Given the description of an element on the screen output the (x, y) to click on. 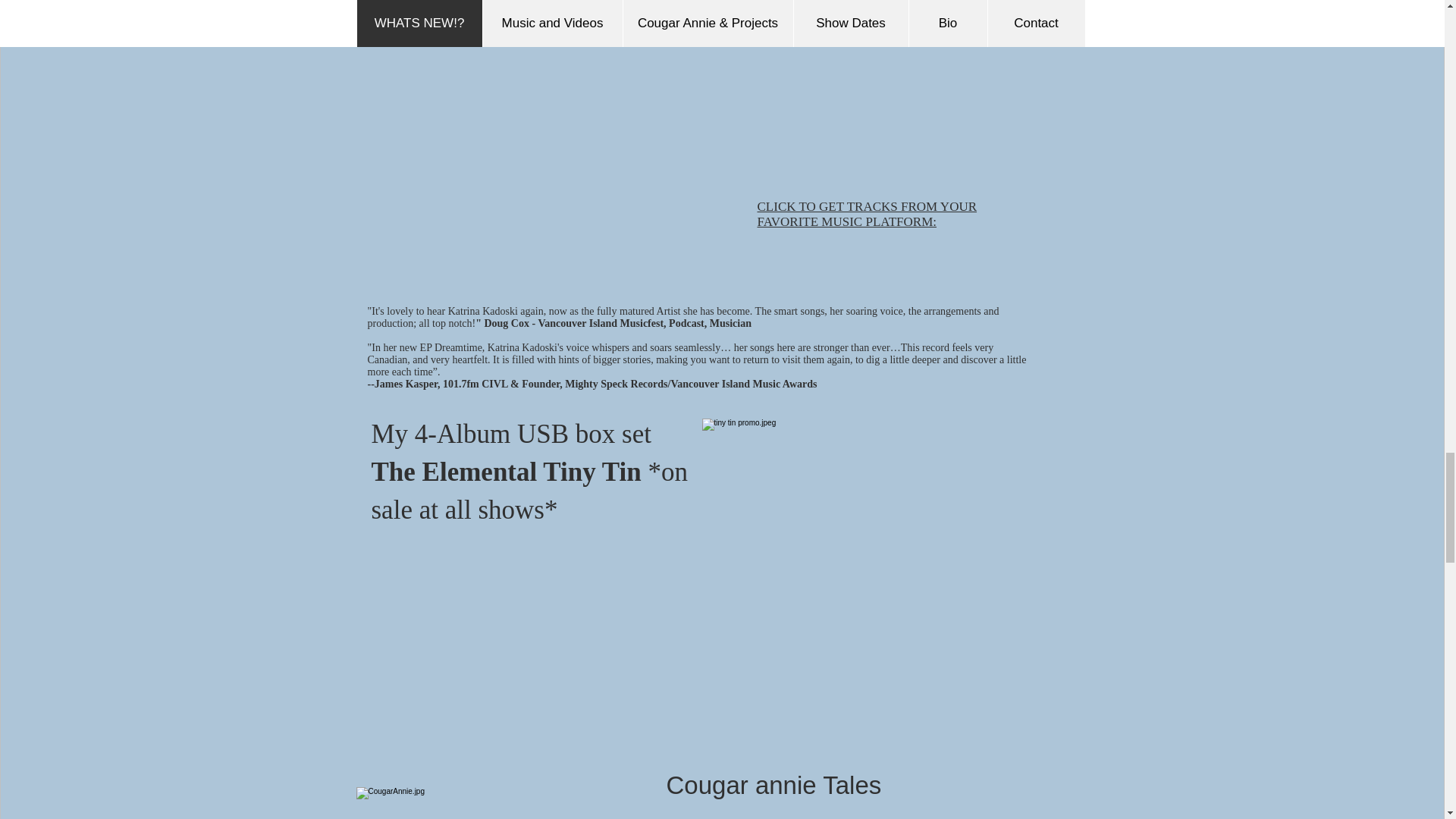
CLICK TO GET TRACKS FROM YOUR FAVORITE MUSIC PLATFORM: (866, 214)
